Given the description of an element on the screen output the (x, y) to click on. 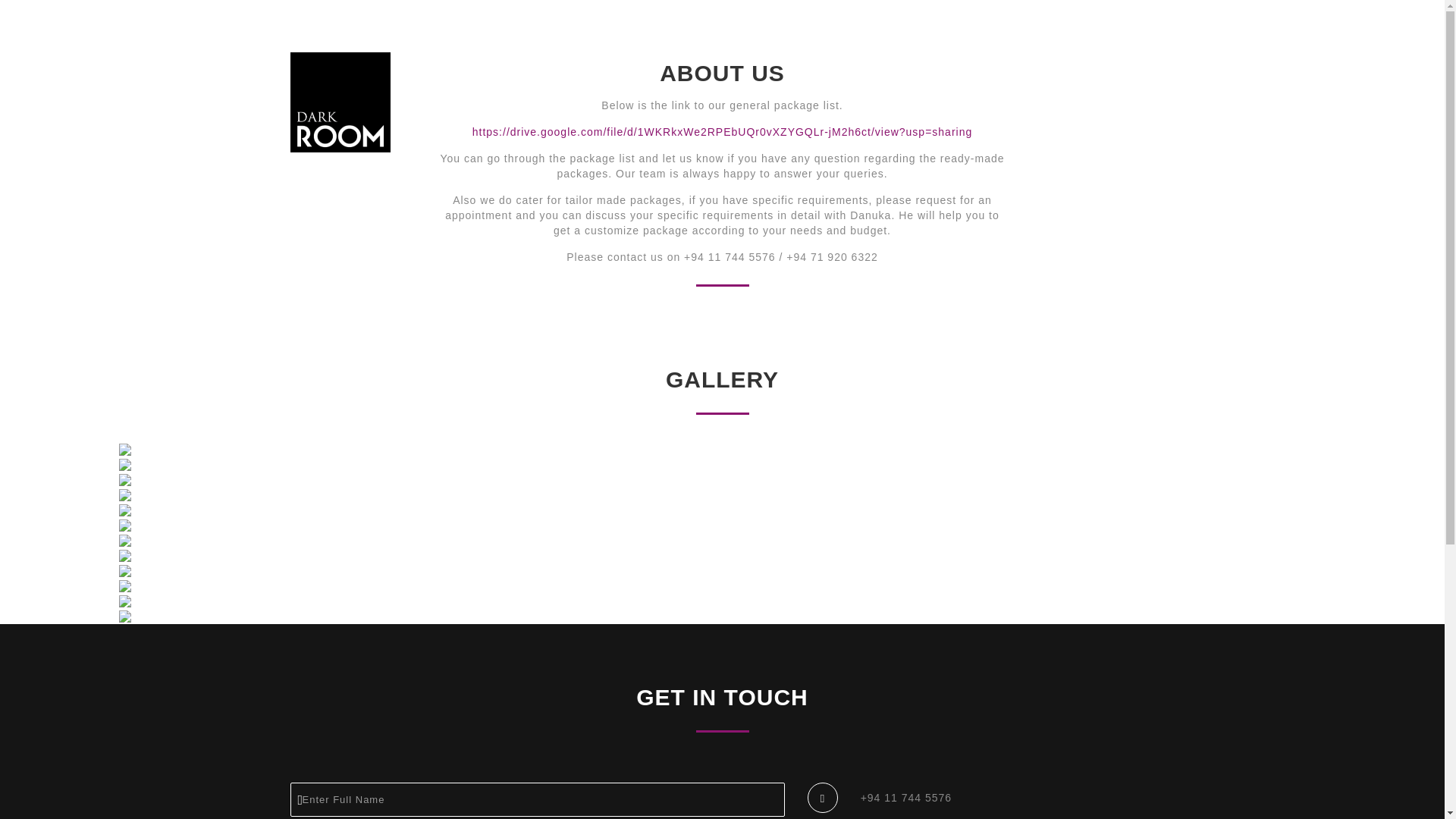
ABOUT (984, 38)
HOME (930, 38)
GALLERY (1048, 38)
CONTACT (1118, 38)
